Given the description of an element on the screen output the (x, y) to click on. 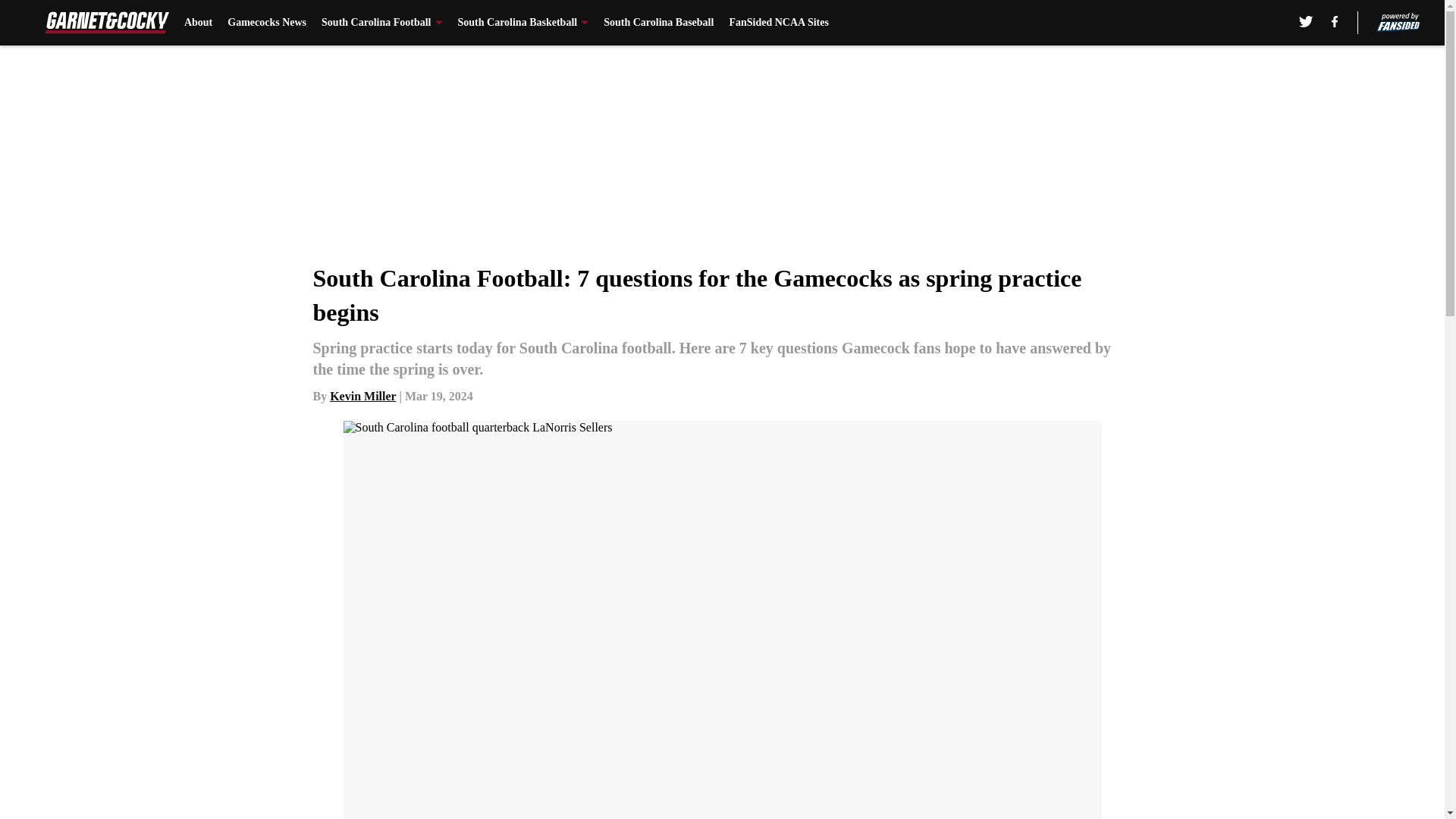
Gamecocks News (266, 22)
South Carolina Baseball (658, 22)
Kevin Miller (363, 395)
FanSided NCAA Sites (778, 22)
About (198, 22)
